Given the description of an element on the screen output the (x, y) to click on. 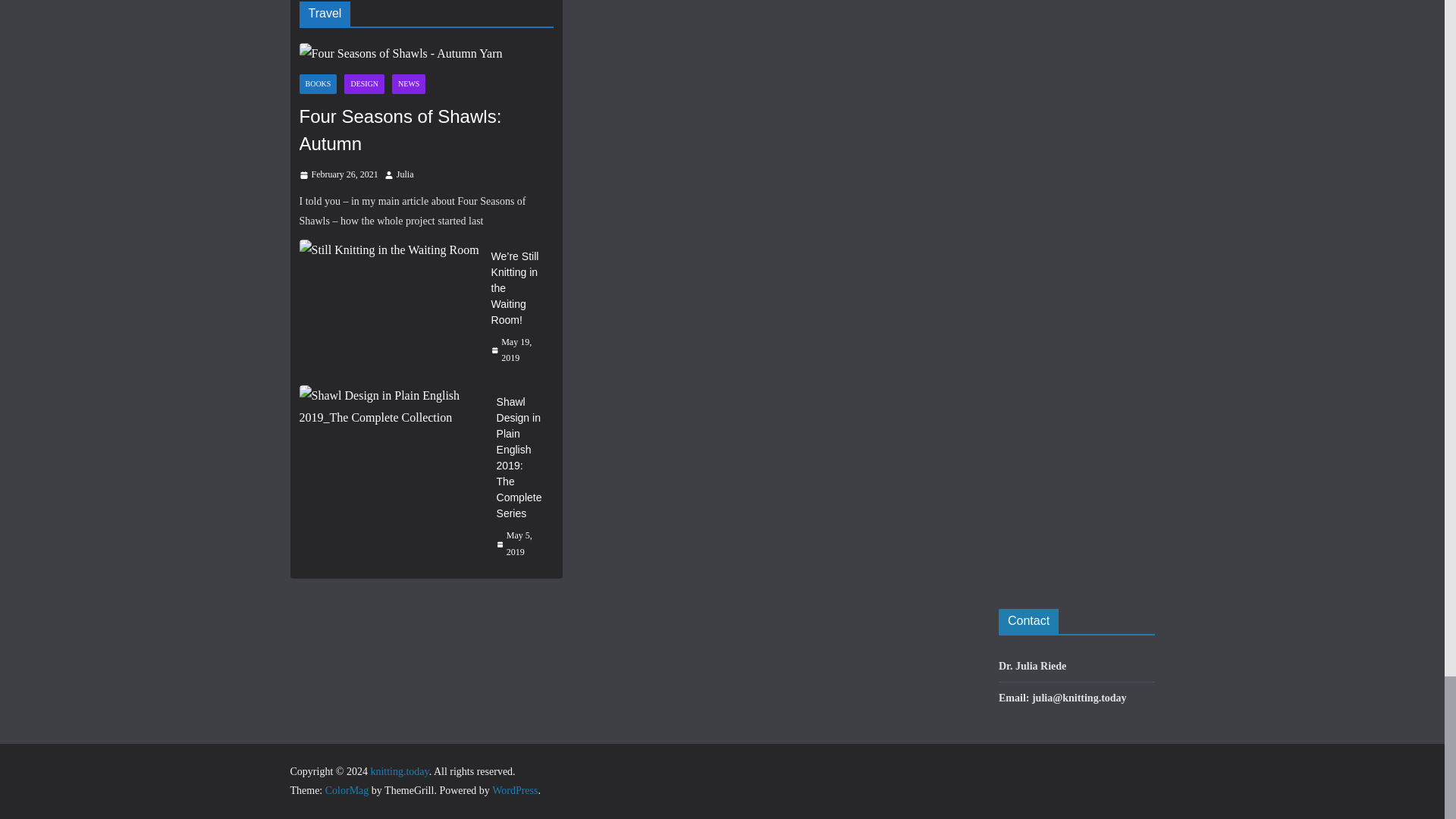
10:00 am (337, 175)
Four Seasons of Shawls: Autumn (400, 54)
Four Seasons of Shawls: Autumn (425, 130)
Four Seasons of Shawls: Autumn (425, 54)
6:21 pm (516, 350)
Julia (404, 175)
